Given the description of an element on the screen output the (x, y) to click on. 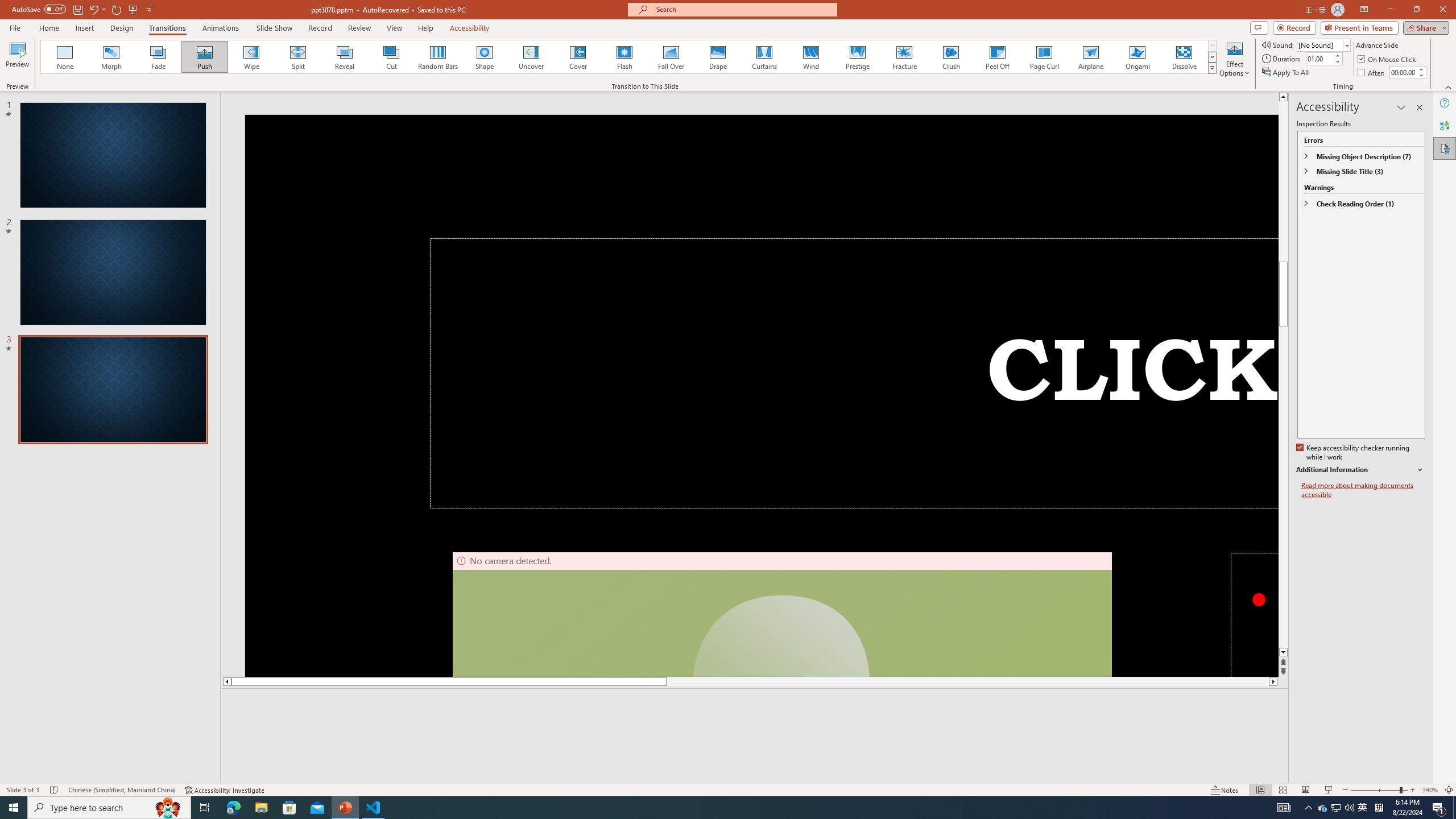
Prestige (857, 56)
Apply To All (1286, 72)
Effect Options (1234, 58)
None (65, 56)
Read more about making documents accessible (1363, 489)
Sound (1324, 44)
